Given the description of an element on the screen output the (x, y) to click on. 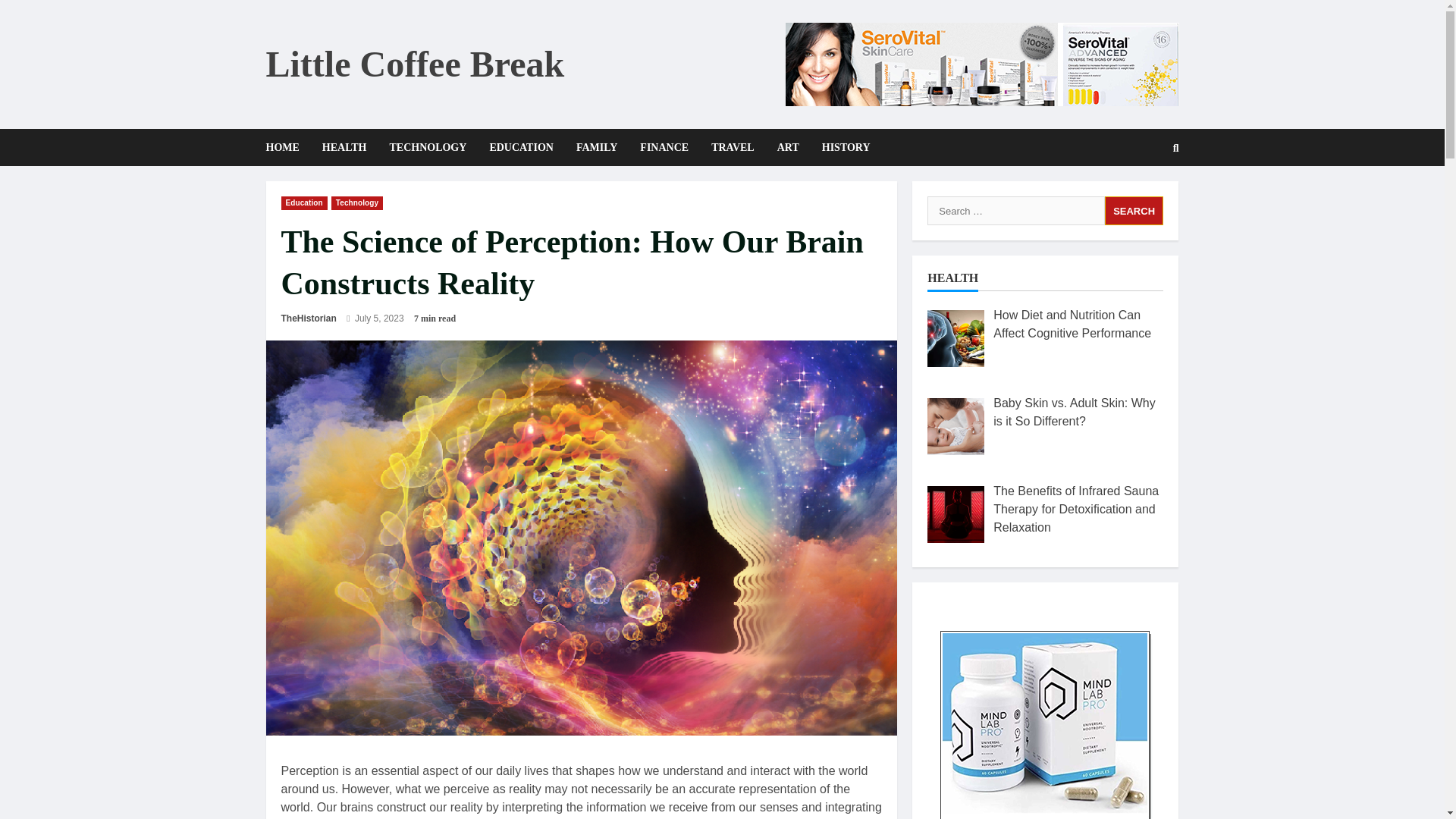
HISTORY (840, 147)
FINANCE (664, 147)
Education (303, 202)
Little Coffee Break (414, 64)
HOME (287, 147)
TheHistorian (308, 318)
Search (1134, 210)
HEALTH (344, 147)
ART (787, 147)
Search (1139, 199)
TECHNOLOGY (427, 147)
FAMILY (596, 147)
Technology (356, 202)
TRAVEL (732, 147)
EDUCATION (520, 147)
